Given the description of an element on the screen output the (x, y) to click on. 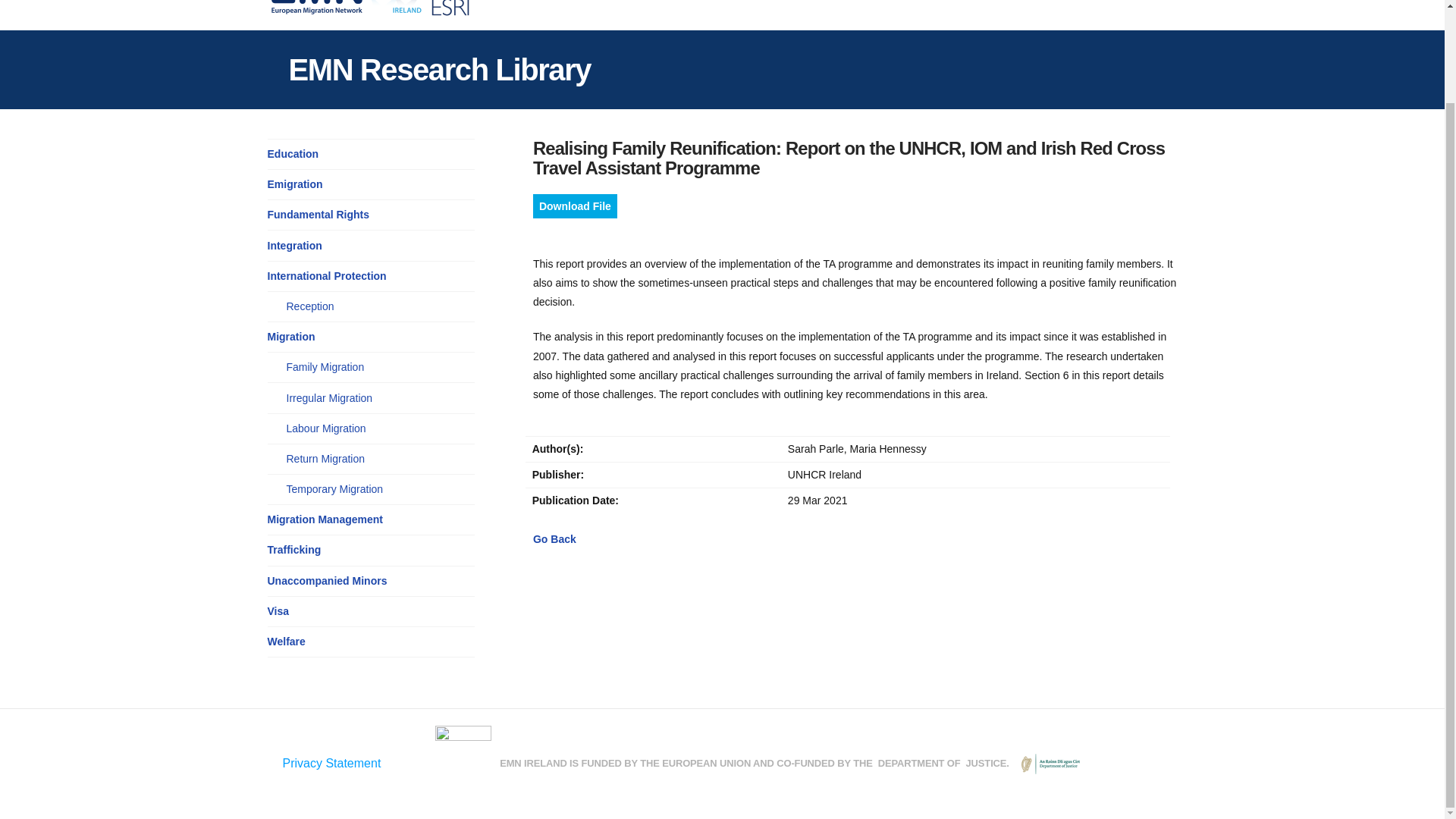
Temporary Migration (335, 489)
Fundamental Rights (317, 214)
International Protection (325, 276)
Return Migration (325, 458)
Download File (574, 206)
Unaccompanied Minors (326, 580)
Privacy Statement (331, 762)
Integration (293, 245)
Reception (310, 306)
Labour Migration (326, 428)
Emigration (293, 184)
Welfare (285, 641)
Visa (277, 611)
Trafficking (293, 549)
Irregular Migration (329, 398)
